Given the description of an element on the screen output the (x, y) to click on. 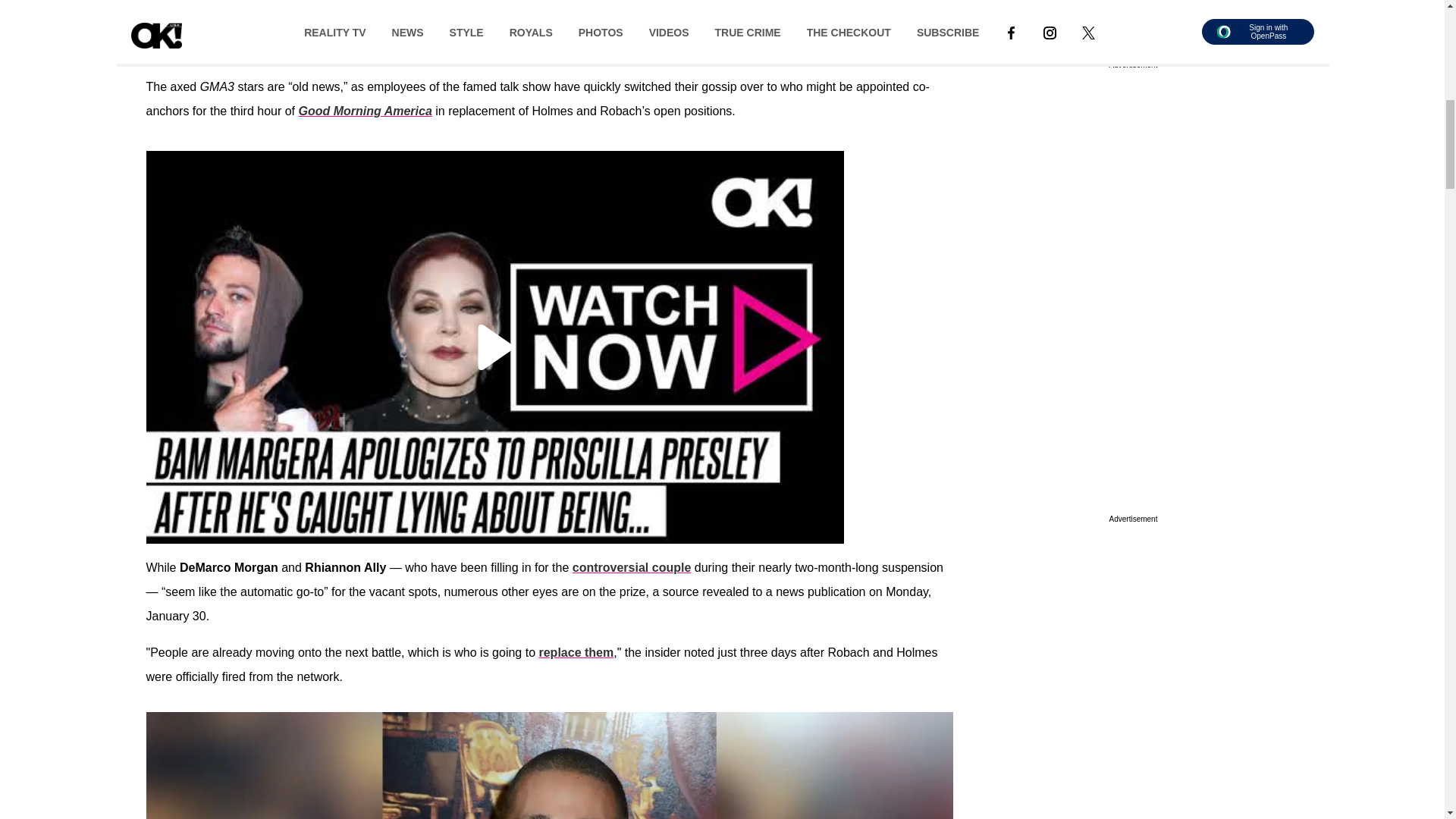
Amy Robach (511, 25)
T.J. Holmes (609, 25)
